Given the description of an element on the screen output the (x, y) to click on. 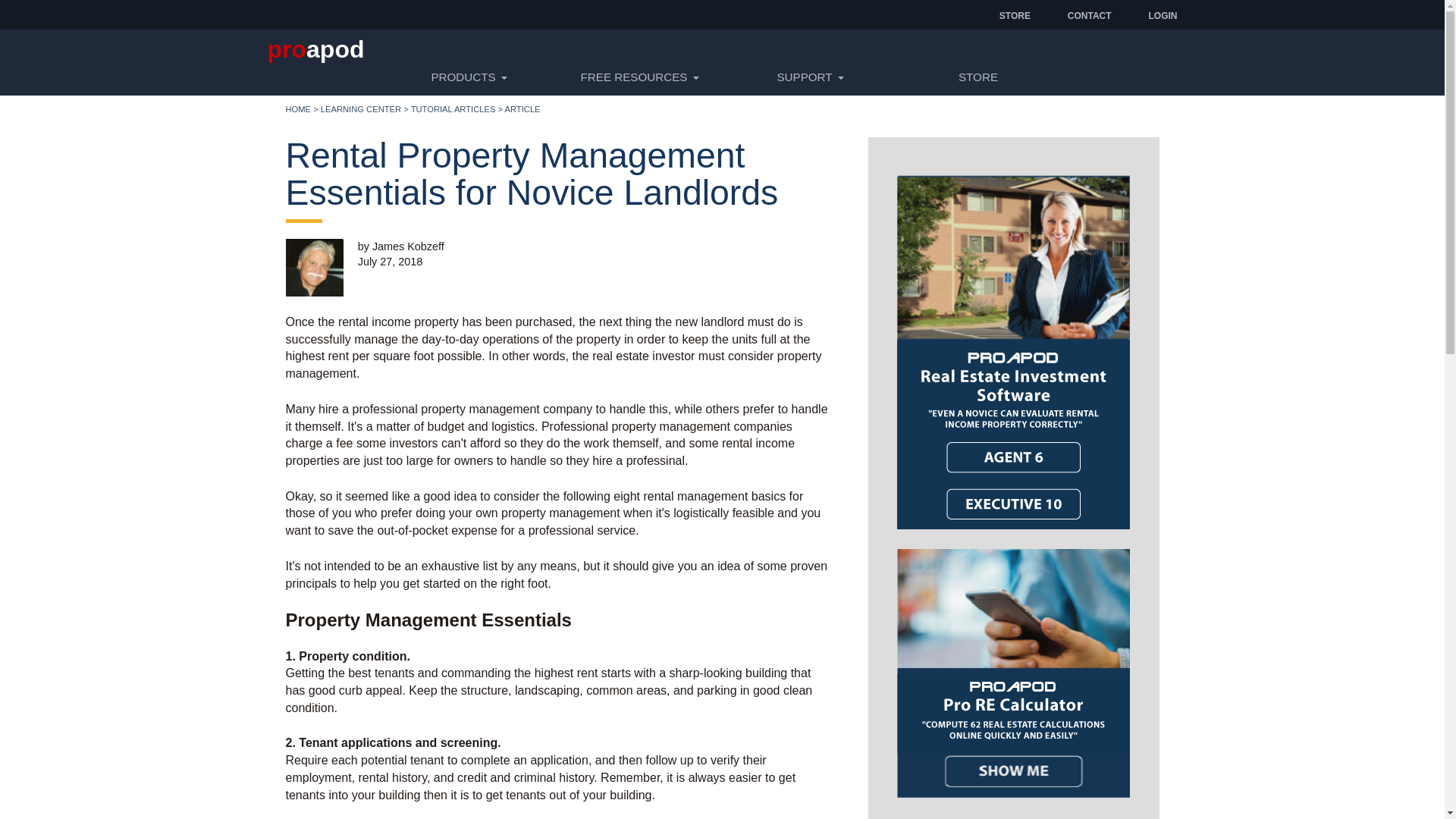
STORE (978, 77)
PRODUCTS (465, 77)
STORE (1014, 15)
CONTACT (1089, 15)
shop our products (978, 77)
HOME (298, 108)
contact proapod (1089, 15)
investing articles (453, 108)
LOGIN (1162, 15)
proapod home (298, 108)
